Given the description of an element on the screen output the (x, y) to click on. 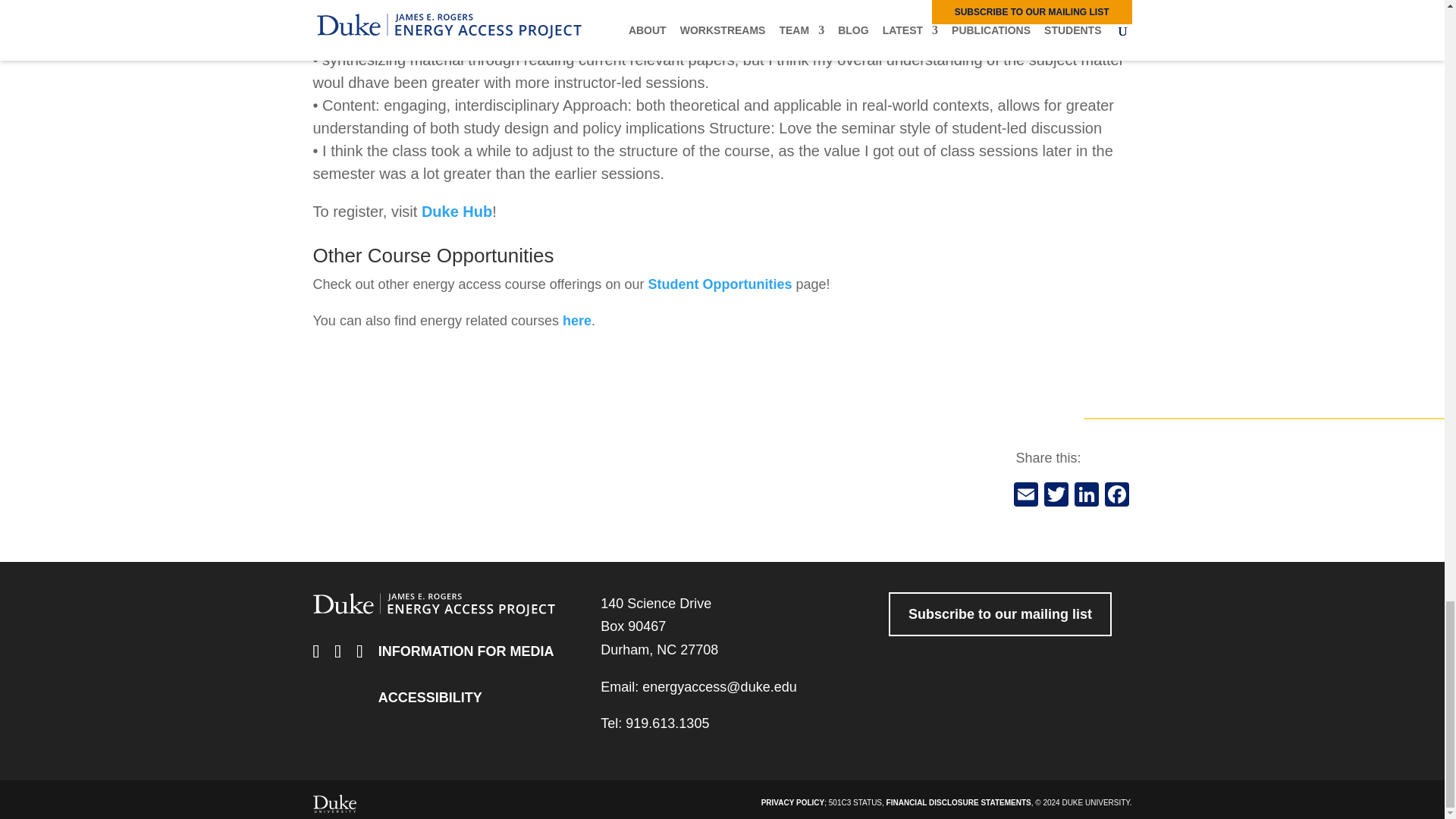
here (576, 320)
Duke Hub (457, 211)
LinkedIn (1085, 496)
Student Opportunities (719, 283)
Twitter (1055, 496)
Email (1025, 496)
Email (1025, 496)
Facebook (1115, 496)
ACCESSIBILITY (429, 697)
Facebook (1115, 496)
Subscribe to our mailing list (1000, 614)
Twitter (1055, 496)
LinkedIn (1085, 496)
INFORMATION FOR MEDIA (466, 651)
